Given the description of an element on the screen output the (x, y) to click on. 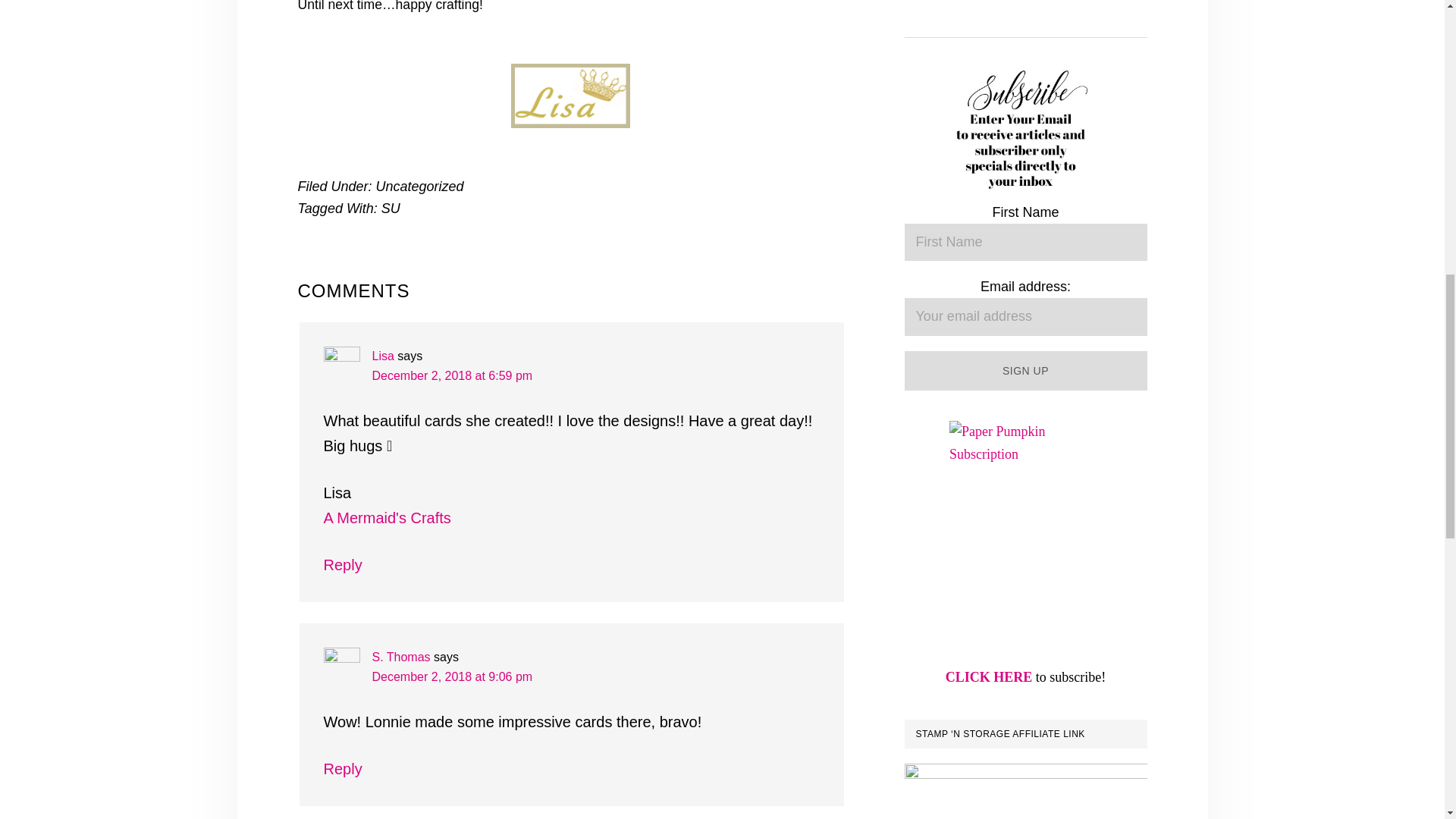
A Mermaid's Crafts (386, 517)
S. Thomas (400, 656)
Uncategorized (419, 186)
December 2, 2018 at 9:06 pm (451, 676)
Lisa (382, 355)
Reply (342, 768)
Sign up (1025, 371)
SU (390, 208)
Reply (342, 564)
December 2, 2018 at 6:59 pm (451, 375)
